Given the description of an element on the screen output the (x, y) to click on. 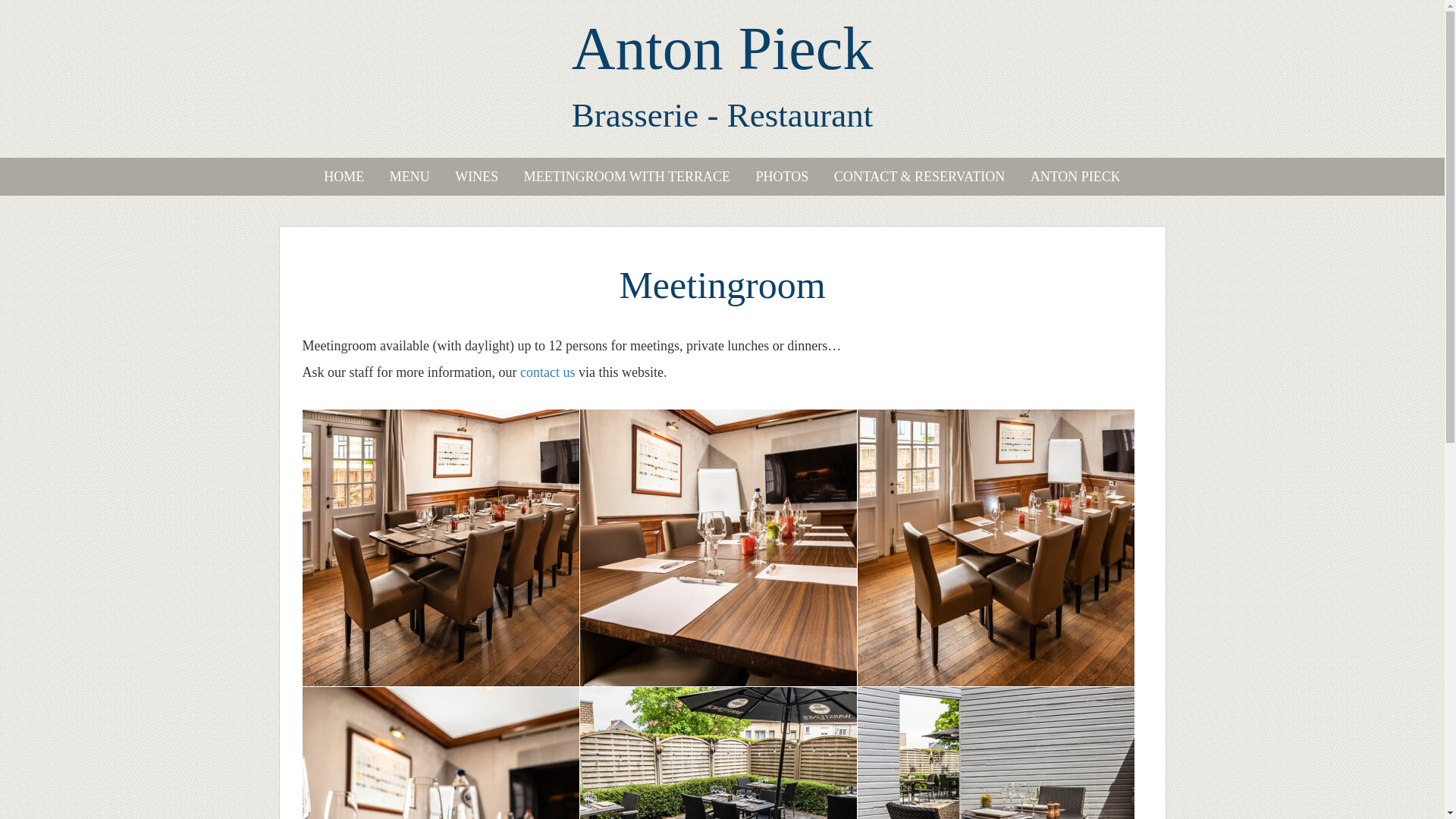
CONTACT & RESERVATION Element type: text (919, 176)
meetingroom-8 Element type: hover (717, 547)
PHOTOS Element type: text (781, 176)
MEETINGROOM WITH TERRACE Element type: text (626, 176)
MENU Element type: text (409, 176)
meetingroom-6 Element type: hover (439, 547)
contact us Element type: text (547, 371)
HOME Element type: text (343, 176)
ANTON PIECK Element type: text (1075, 176)
WINES Element type: text (476, 176)
meetingroom-7 Element type: hover (994, 547)
